Given the description of an element on the screen output the (x, y) to click on. 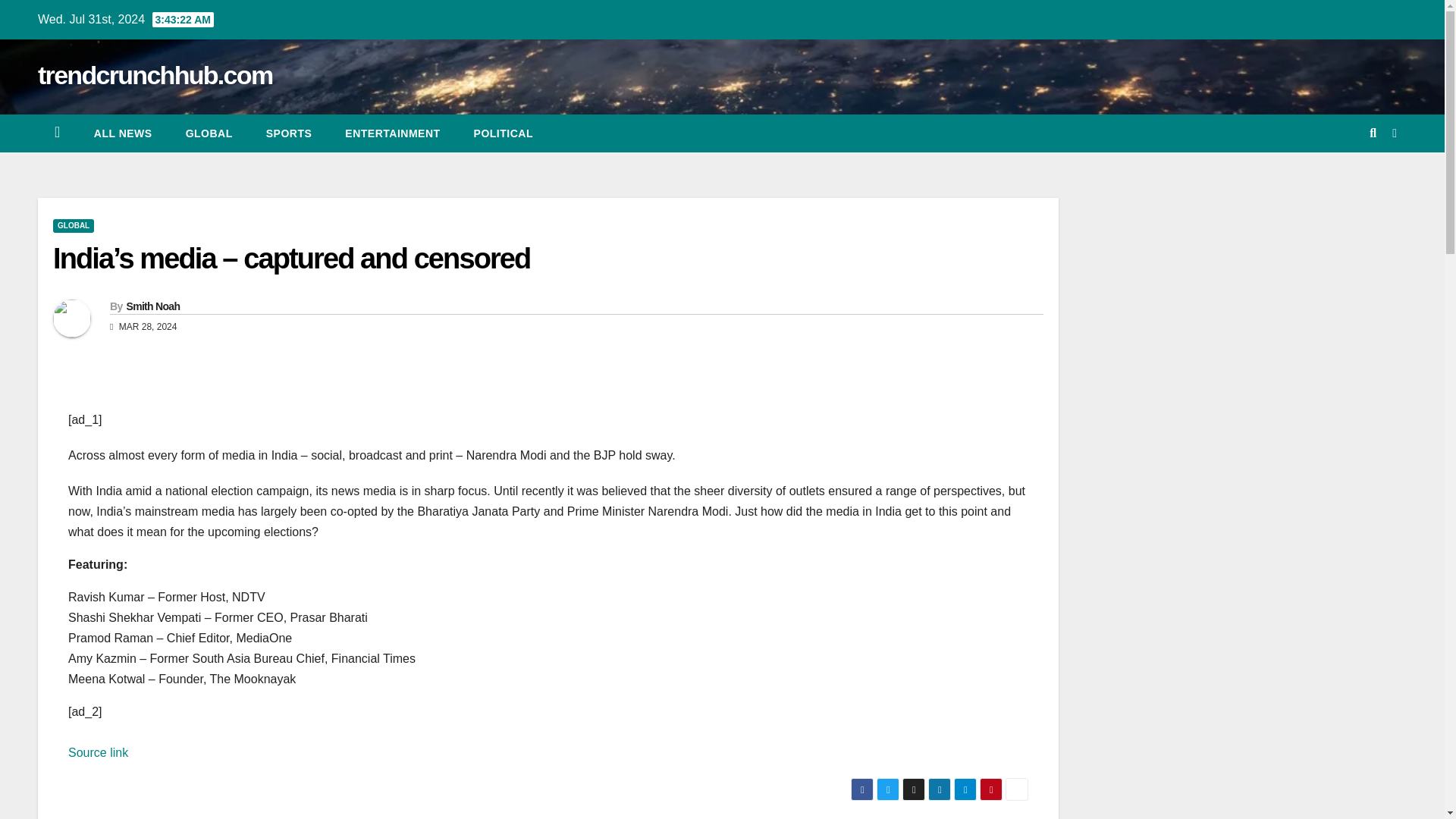
GLOBAL (208, 133)
All News (122, 133)
ENTERTAINMENT (393, 133)
Source link (98, 752)
Sports (288, 133)
political (503, 133)
trendcrunchhub.com (154, 74)
Global (208, 133)
ALL NEWS (122, 133)
SPORTS (288, 133)
POLITICAL (503, 133)
GLOBAL (73, 225)
Smith Noah (152, 306)
entertainment (393, 133)
